Given the description of an element on the screen output the (x, y) to click on. 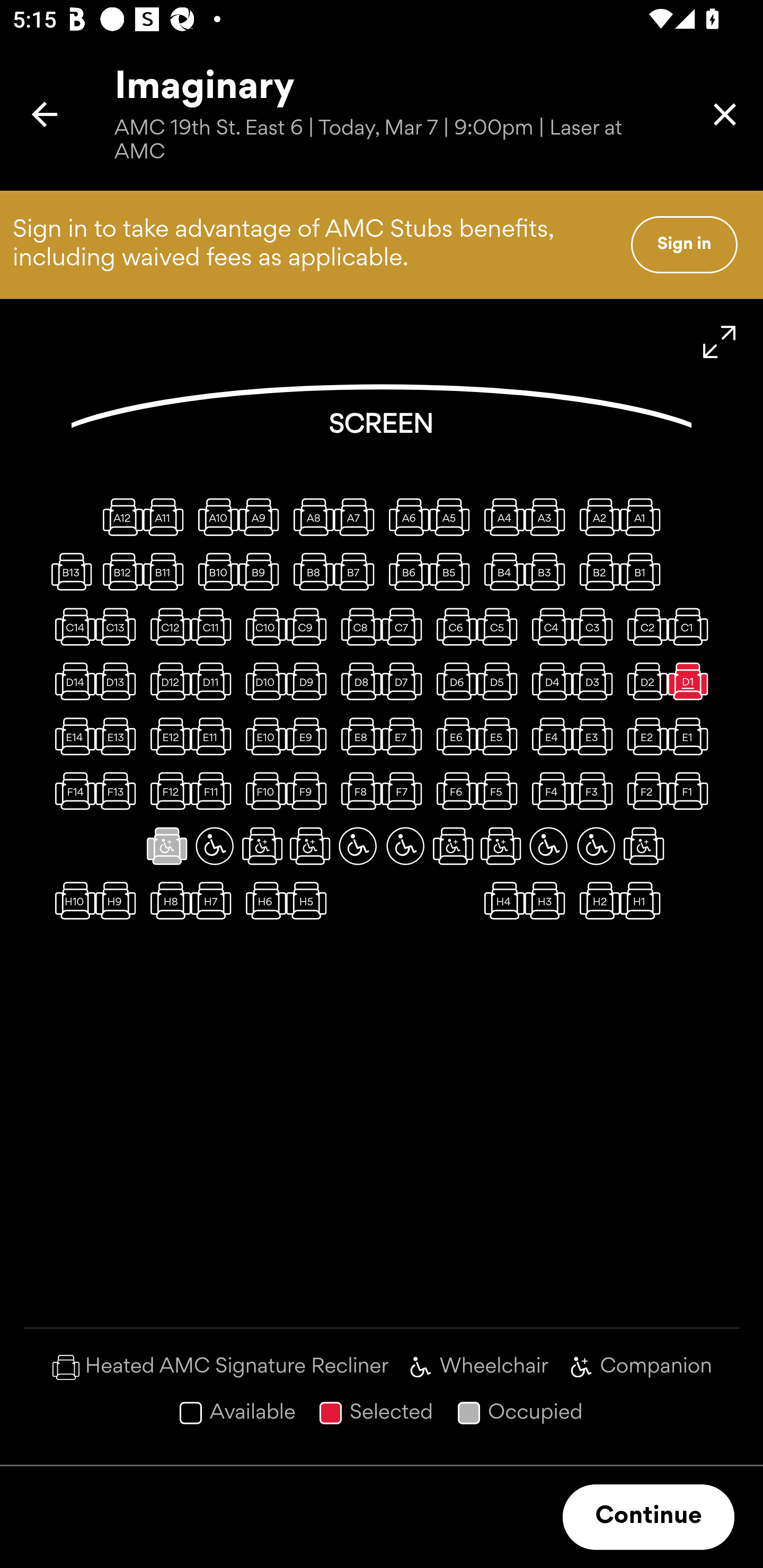
Back (44, 114)
Close (724, 114)
Sign in (684, 244)
Zoom (719, 342)
A12, Regular seat, available (119, 516)
A11, Regular seat, available (166, 516)
A10, Regular seat, available (214, 516)
A9, Regular seat, available (262, 516)
A8, Regular seat, available (310, 516)
A7, Regular seat, available (357, 516)
A6, Regular seat, available (404, 516)
A5, Regular seat, available (452, 516)
A4, Regular seat, available (500, 516)
A3, Regular seat, available (548, 516)
A2, Regular seat, available (595, 516)
A1, Regular seat, available (643, 516)
B13, Regular seat, available (71, 571)
B12, Regular seat, available (119, 571)
B11, Regular seat, available (166, 571)
B10, Regular seat, available (214, 571)
B9, Regular seat, available (262, 571)
B8, Regular seat, available (310, 571)
B7, Regular seat, available (357, 571)
B6, Regular seat, available (404, 571)
B5, Regular seat, available (452, 571)
B4, Regular seat, available (500, 571)
B3, Regular seat, available (548, 571)
B2, Regular seat, available (595, 571)
B1, Regular seat, available (643, 571)
C14, Regular seat, available (71, 625)
C13, Regular seat, available (119, 625)
C12, Regular seat, available (166, 625)
C11, Regular seat, available (214, 625)
C10, Regular seat, available (262, 625)
C9, Regular seat, available (310, 625)
C8, Regular seat, available (357, 625)
C7, Regular seat, available (404, 625)
C6, Regular seat, available (452, 625)
C5, Regular seat, available (500, 625)
C4, Regular seat, available (548, 625)
C3, Regular seat, available (595, 625)
C2, Regular seat, available (643, 625)
C1, Regular seat, available (691, 625)
D14, Regular seat, available (71, 680)
D13, Regular seat, available (119, 680)
D12, Regular seat, available (166, 680)
D11, Regular seat, available (214, 680)
D10, Regular seat, available (262, 680)
D9, Regular seat, available (310, 680)
D8, Regular seat, available (357, 680)
D7, Regular seat, available (404, 680)
D6, Regular seat, available (452, 680)
D5, Regular seat, available (500, 680)
D4, Regular seat, available (548, 680)
D3, Regular seat, available (595, 680)
D2, Regular seat, available (643, 680)
D1, Regular seat, selected (691, 680)
E14, Regular seat, available (71, 735)
E13, Regular seat, available (119, 735)
E12, Regular seat, available (166, 735)
E11, Regular seat, available (214, 735)
E10, Regular seat, available (262, 735)
E9, Regular seat, available (310, 735)
E8, Regular seat, available (357, 735)
E7, Regular seat, available (404, 735)
E6, Regular seat, available (452, 735)
E5, Regular seat, available (500, 735)
E4, Regular seat, available (548, 735)
E3, Regular seat, available (595, 735)
E2, Regular seat, available (643, 735)
E1, Regular seat, available (691, 735)
F14, Regular seat, available (71, 790)
F13, Regular seat, available (119, 790)
F12, Regular seat, available (166, 790)
F11, Regular seat, available (214, 790)
F10, Regular seat, available (262, 790)
F9, Regular seat, available (310, 790)
F8, Regular seat, available (357, 790)
F7, Regular seat, available (404, 790)
F6, Regular seat, available (452, 790)
F5, Regular seat, available (500, 790)
F4, Regular seat, available (548, 790)
F3, Regular seat, available (595, 790)
F2, Regular seat, available (643, 790)
F1, Regular seat, available (691, 790)
G10, Wheelchair space, available (214, 845)
G9, Wheelchair companion seat, available (262, 845)
G8, Wheelchair companion seat, available (310, 845)
G7, Wheelchair space, available (357, 845)
G6, Wheelchair space, available (404, 845)
G5, Wheelchair companion seat, available (452, 845)
G4, Wheelchair companion seat, available (500, 845)
G3, Wheelchair space, available (548, 845)
G2, Wheelchair space, available (595, 845)
G1, Wheelchair companion seat, available (643, 845)
H10, Regular seat, available (71, 900)
H9, Regular seat, available (119, 900)
H8, Regular seat, available (166, 900)
H7, Regular seat, available (214, 900)
H6, Regular seat, available (262, 900)
H5, Regular seat, available (310, 900)
H4, Regular seat, available (500, 900)
H3, Regular seat, available (548, 900)
H2, Regular seat, available (595, 900)
H1, Regular seat, available (643, 900)
Continue (648, 1516)
